Given the description of an element on the screen output the (x, y) to click on. 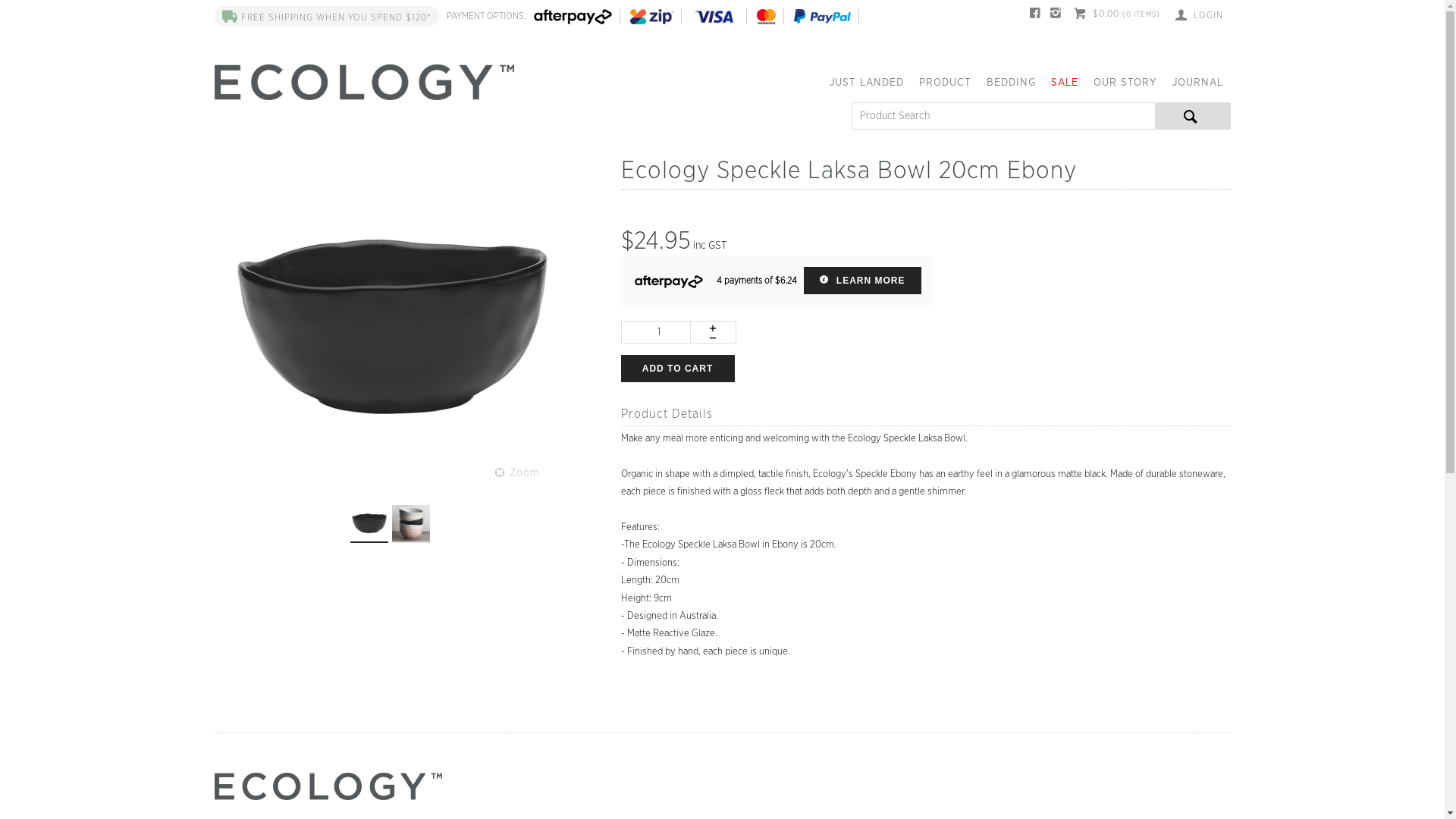
PRODUCT Element type: text (945, 87)
BEDDING Element type: text (1010, 87)
JOURNAL Element type: text (1197, 87)
Instagram Element type: hover (1054, 15)
Zoom Element type: text (516, 473)
LEARN MORE Element type: text (862, 280)
SALE Element type: text (1064, 87)
FREE SHIPPING WHEN YOU SPEND $120* Element type: text (325, 16)
Ecology Speckle Laksa Bowl 20cm Ebony Element type: hover (391, 325)
ADD TO CART Element type: text (677, 368)
$0.00 (0 ITEMS) Element type: text (1116, 15)
LOGIN Element type: text (1198, 15)
Facebook Element type: hover (1035, 15)
JUST LANDED Element type: text (866, 87)
OUR STORY Element type: text (1124, 87)
